Given the description of an element on the screen output the (x, y) to click on. 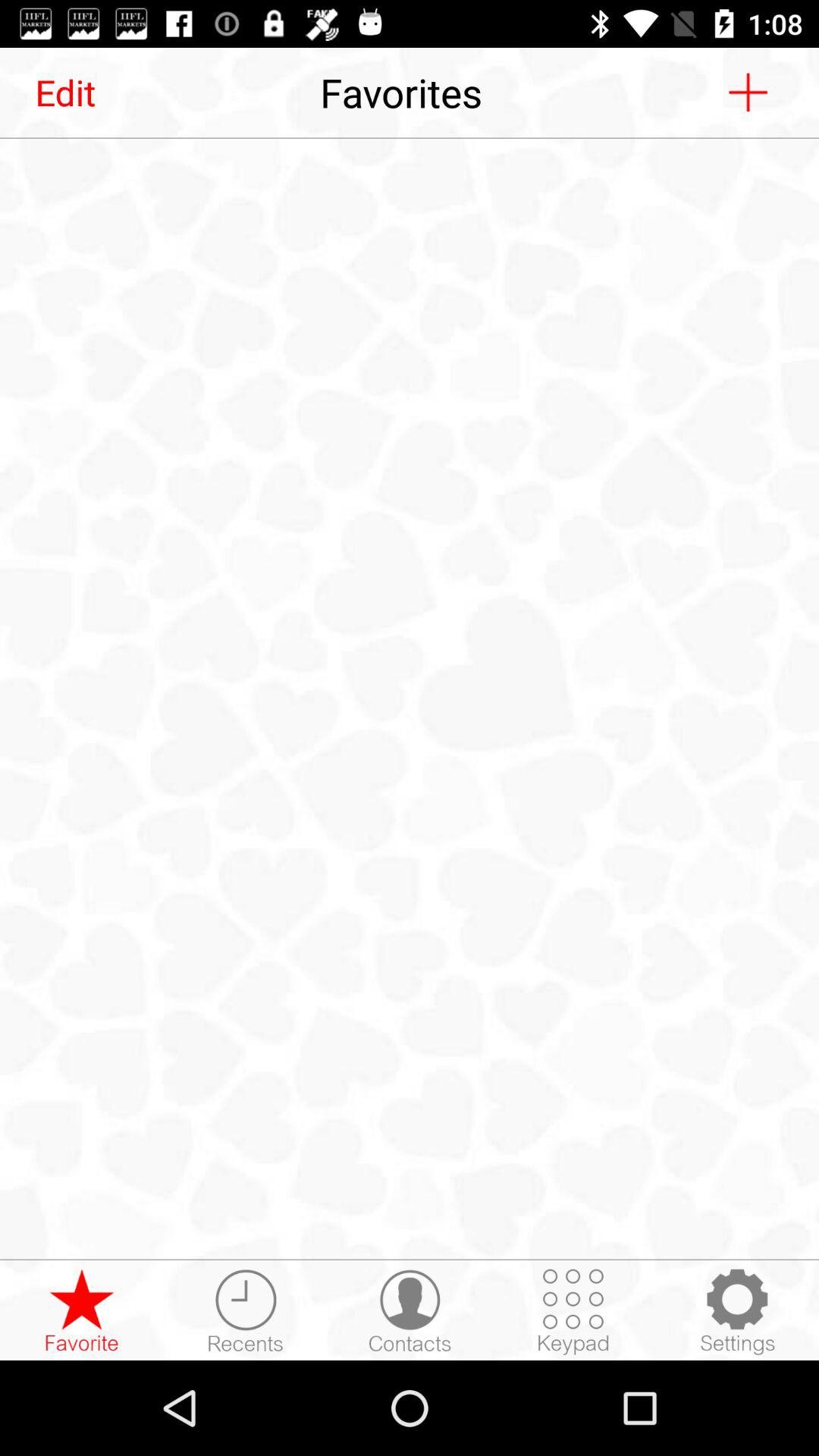
open recent (245, 1311)
